Given the description of an element on the screen output the (x, y) to click on. 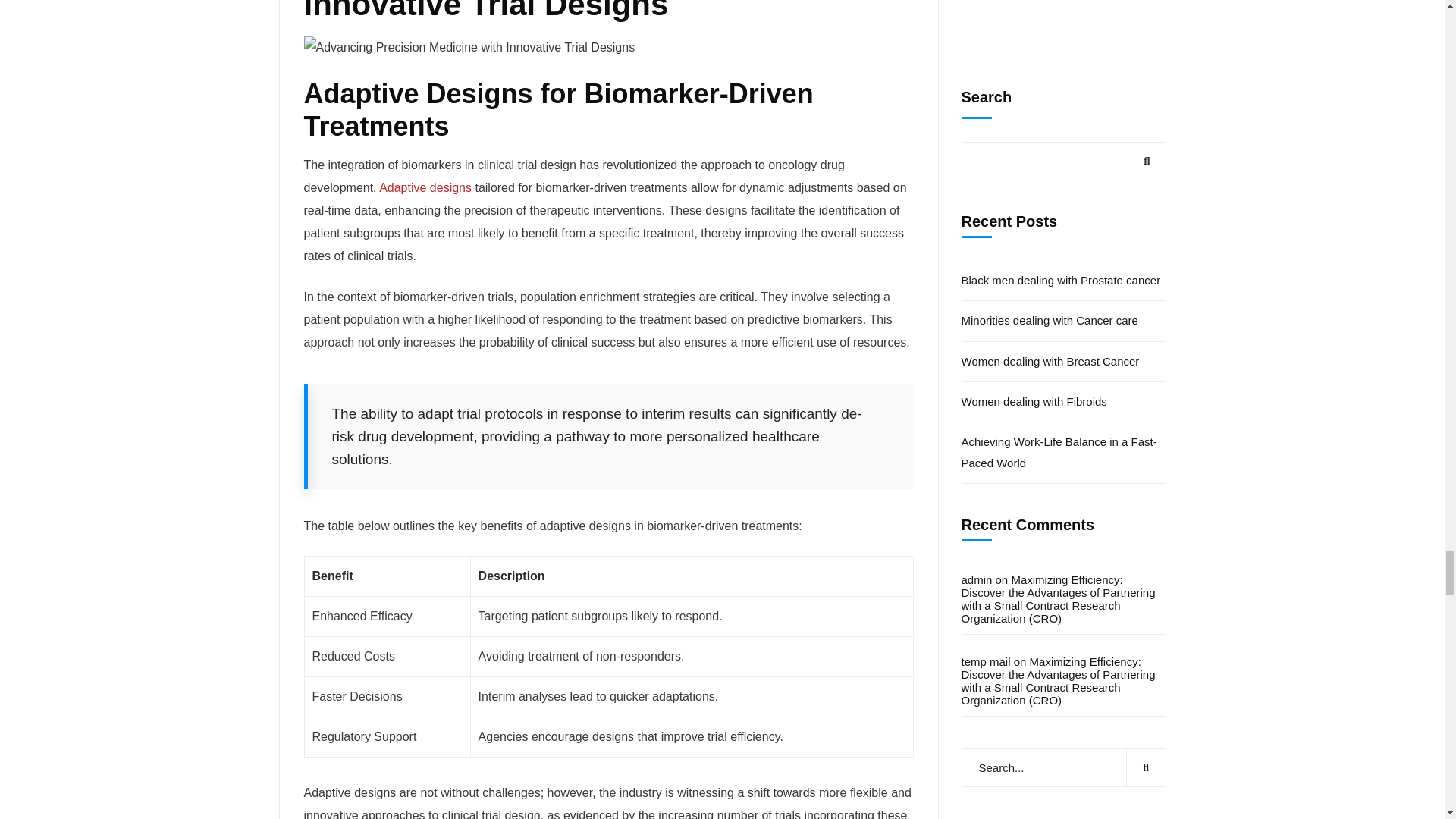
Adaptive designs (424, 187)
